Given the description of an element on the screen output the (x, y) to click on. 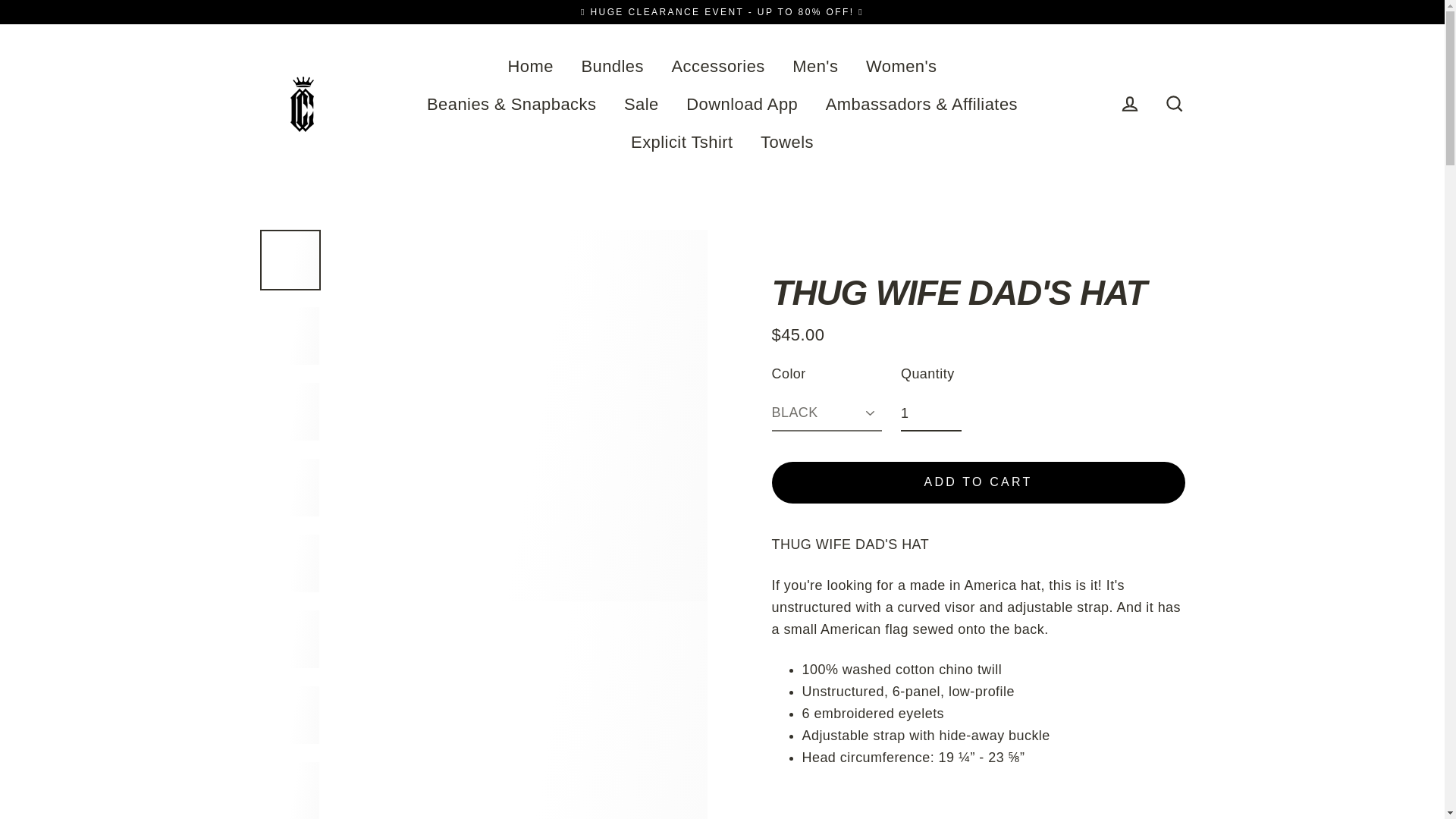
1 (930, 414)
